Given the description of an element on the screen output the (x, y) to click on. 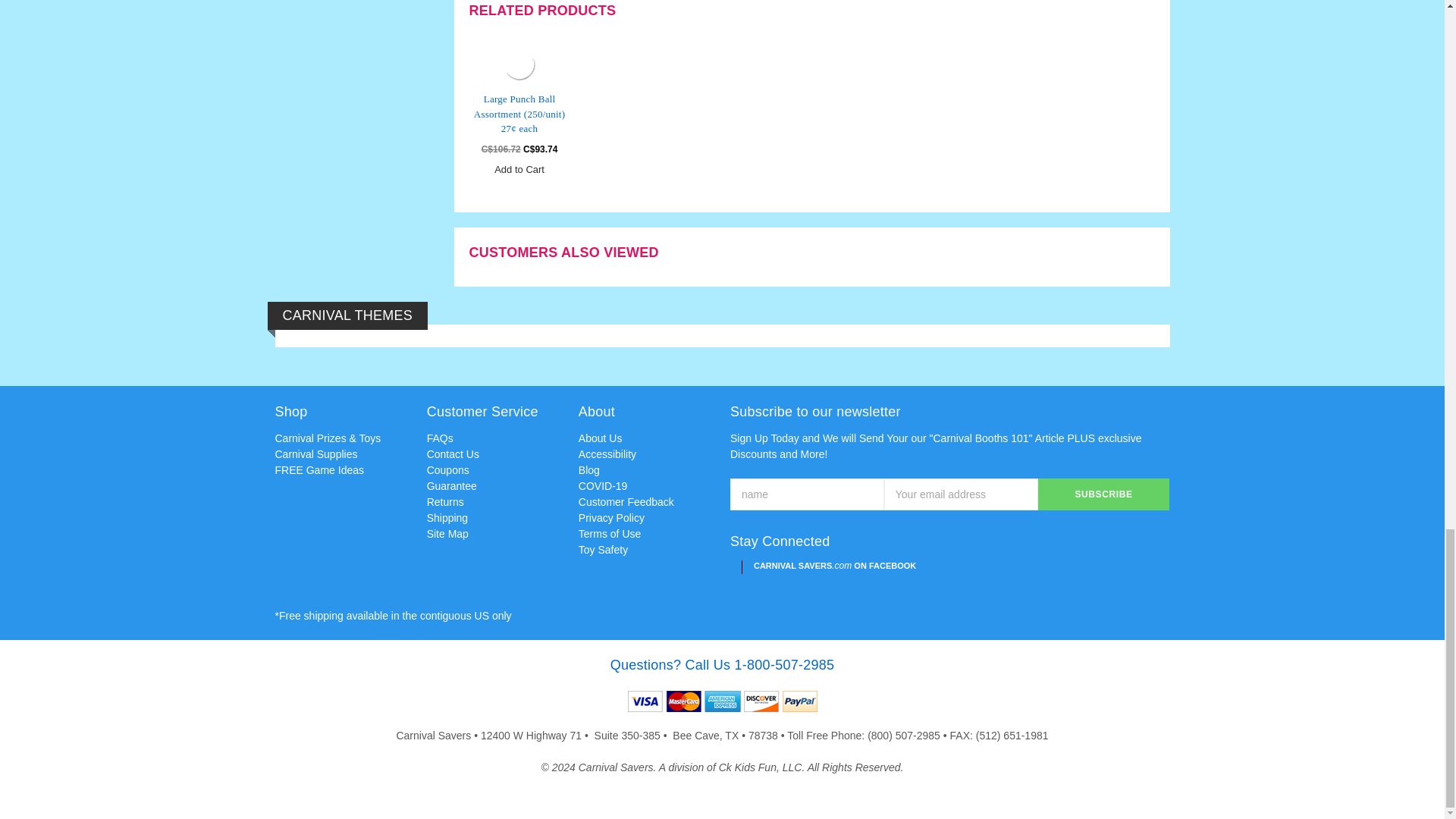
Carnival Prize - punch balls hanging outside (519, 64)
Subscribe (1104, 494)
